Given the description of an element on the screen output the (x, y) to click on. 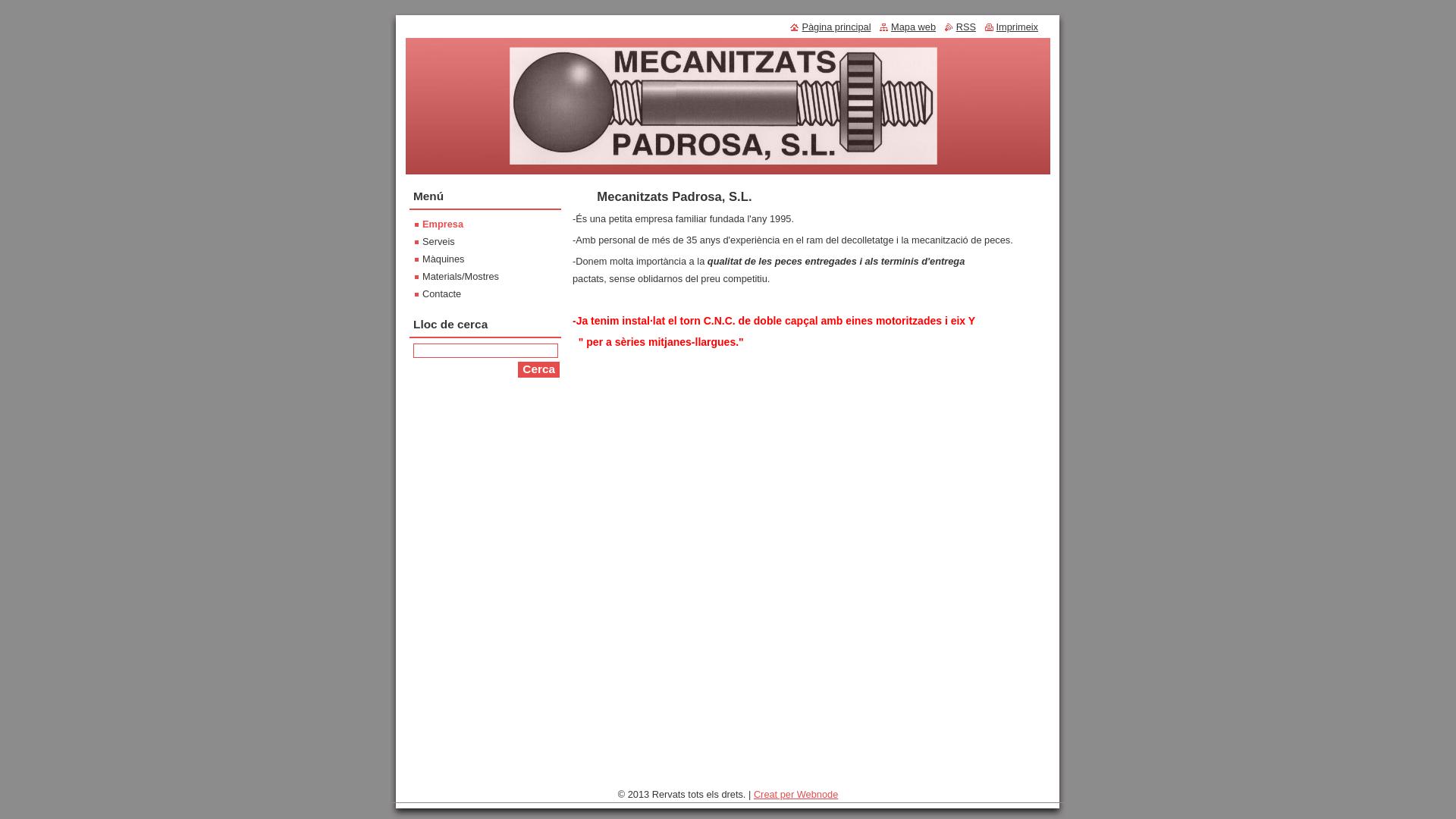
Cerca Element type: text (538, 369)
Contacte Element type: text (437, 293)
Imprimeix Element type: text (1011, 26)
Serveis Element type: text (434, 241)
Creat per Webnode Element type: text (795, 794)
Mapa web Element type: text (907, 26)
Empresa Element type: text (438, 223)
Materials/Mostres Element type: text (456, 276)
RSS Element type: text (959, 26)
